Given the description of an element on the screen output the (x, y) to click on. 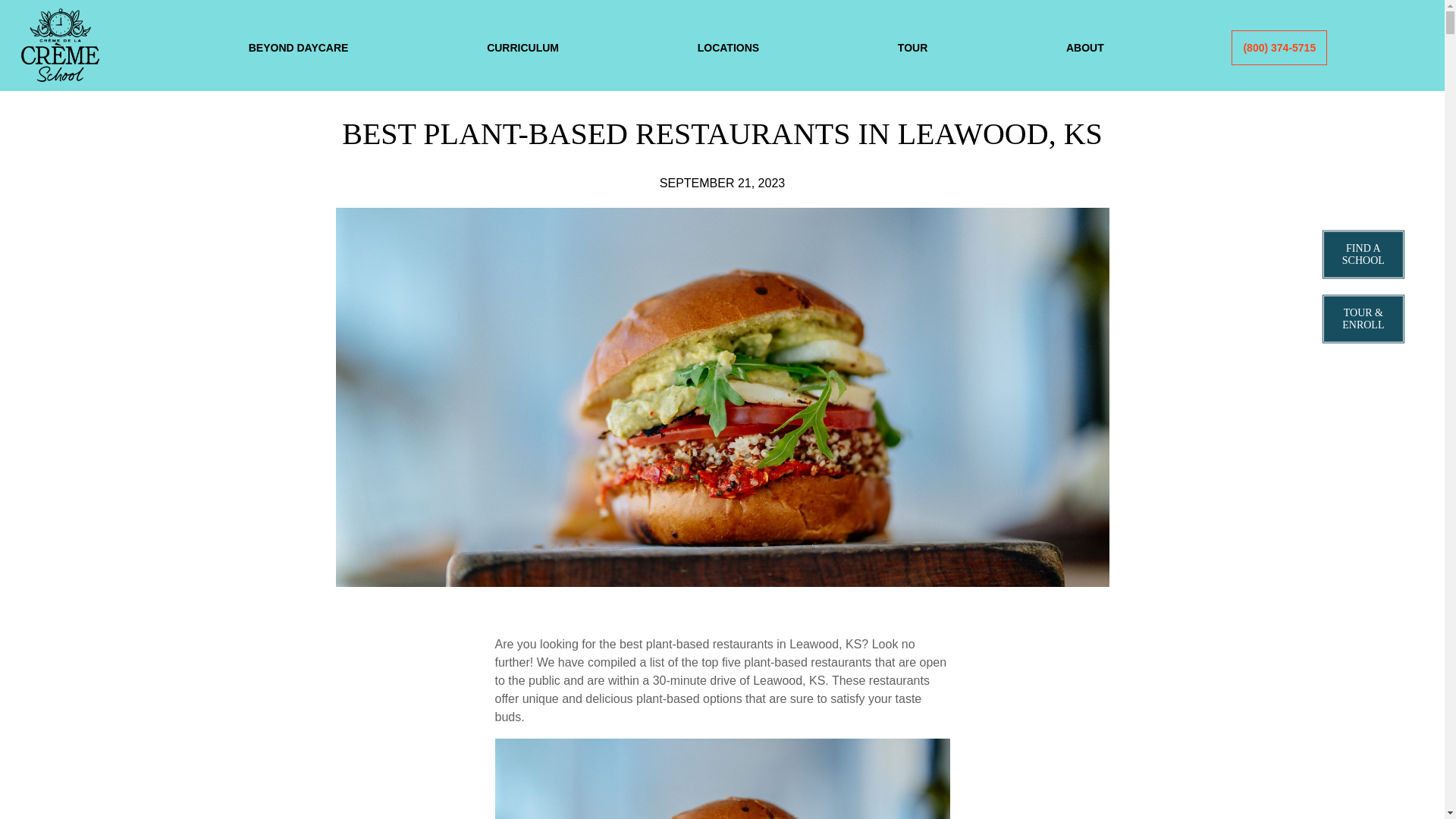
TOUR (911, 47)
LOCATIONS (728, 47)
CURRICULUM (522, 47)
ABOUT (1085, 47)
BEYOND DAYCARE (298, 47)
